Given the description of an element on the screen output the (x, y) to click on. 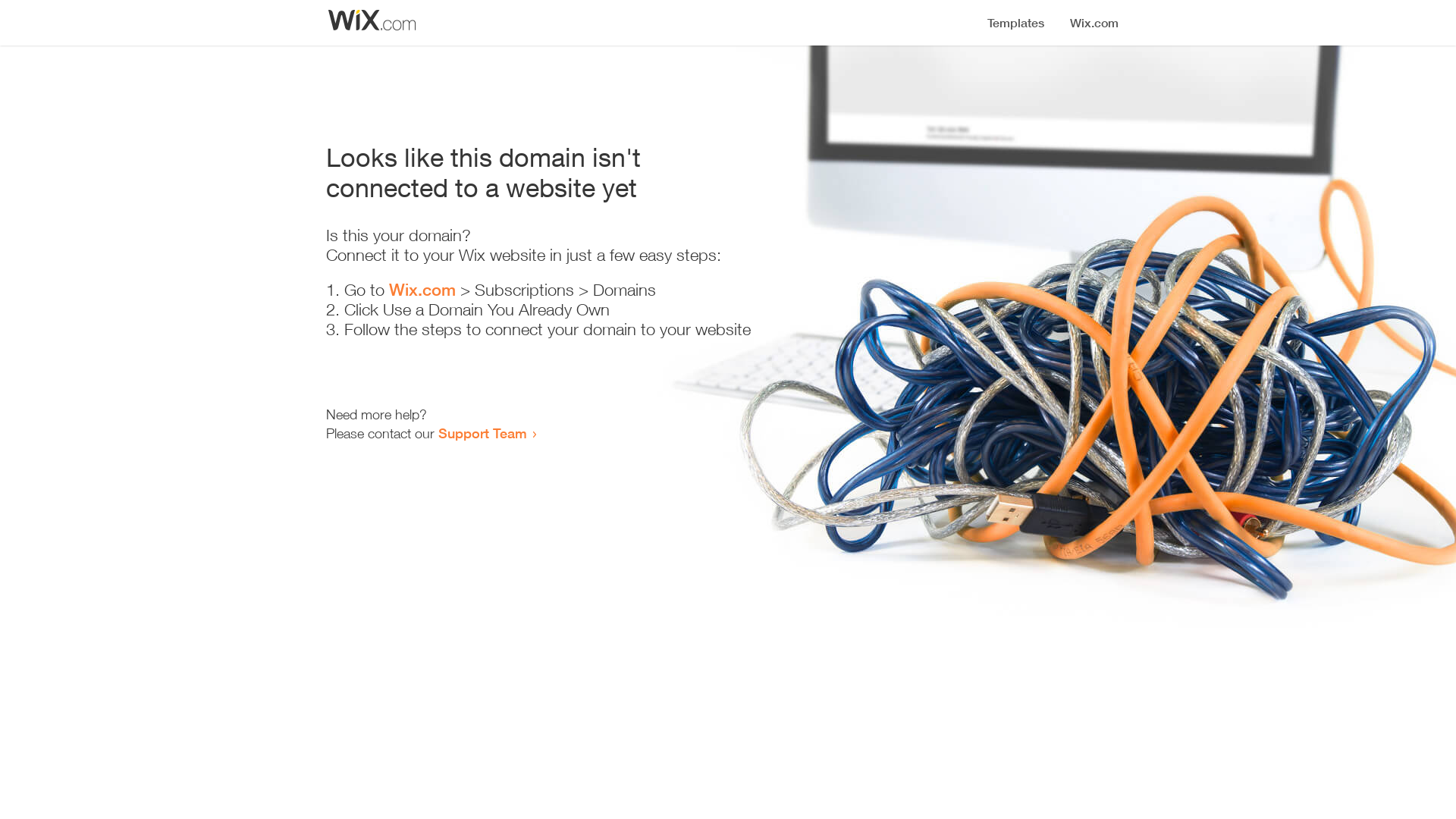
Support Team Element type: text (482, 432)
Wix.com Element type: text (422, 289)
